Given the description of an element on the screen output the (x, y) to click on. 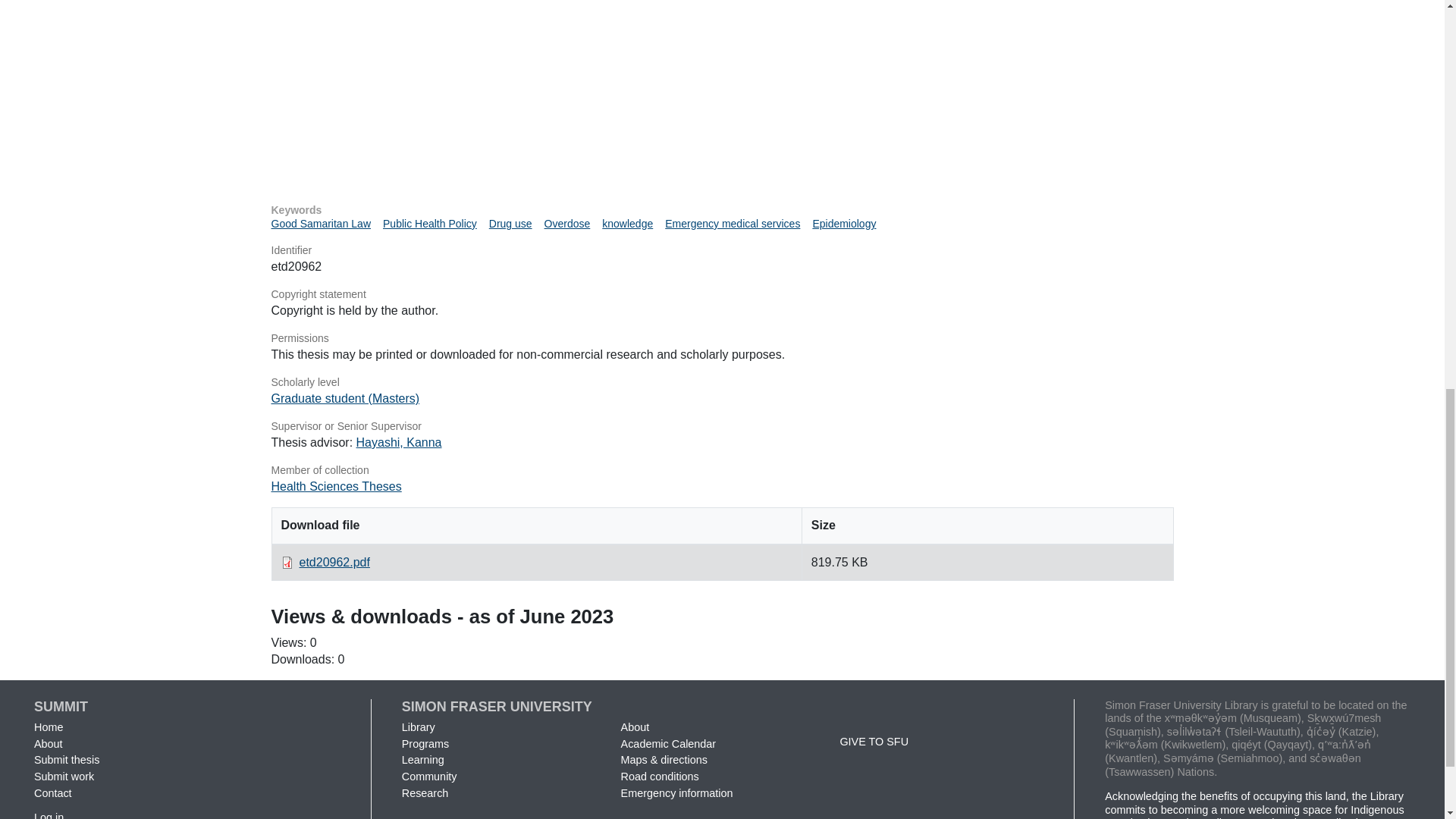
Epidemiology (844, 223)
Emergency medical services (732, 223)
Scholarly level (721, 382)
Public Health Policy (429, 223)
Member of collection (721, 470)
etd20962.pdf (333, 562)
Copyright statement (721, 294)
Hayashi, Kanna (399, 441)
knowledge (627, 223)
Overdose (567, 223)
About (47, 743)
Home (47, 727)
Contact (52, 793)
Good Samaritan Law (320, 223)
